Given the description of an element on the screen output the (x, y) to click on. 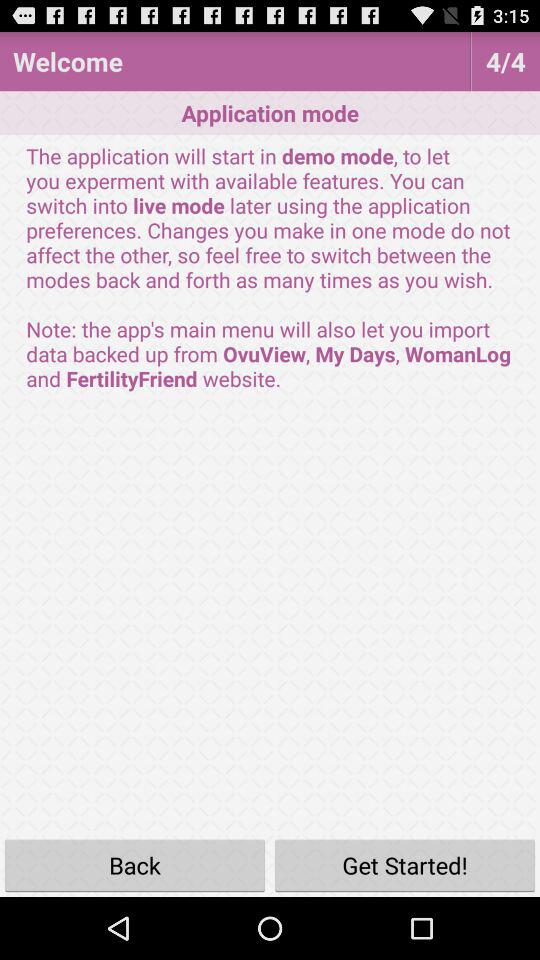
scroll until the back (135, 864)
